Given the description of an element on the screen output the (x, y) to click on. 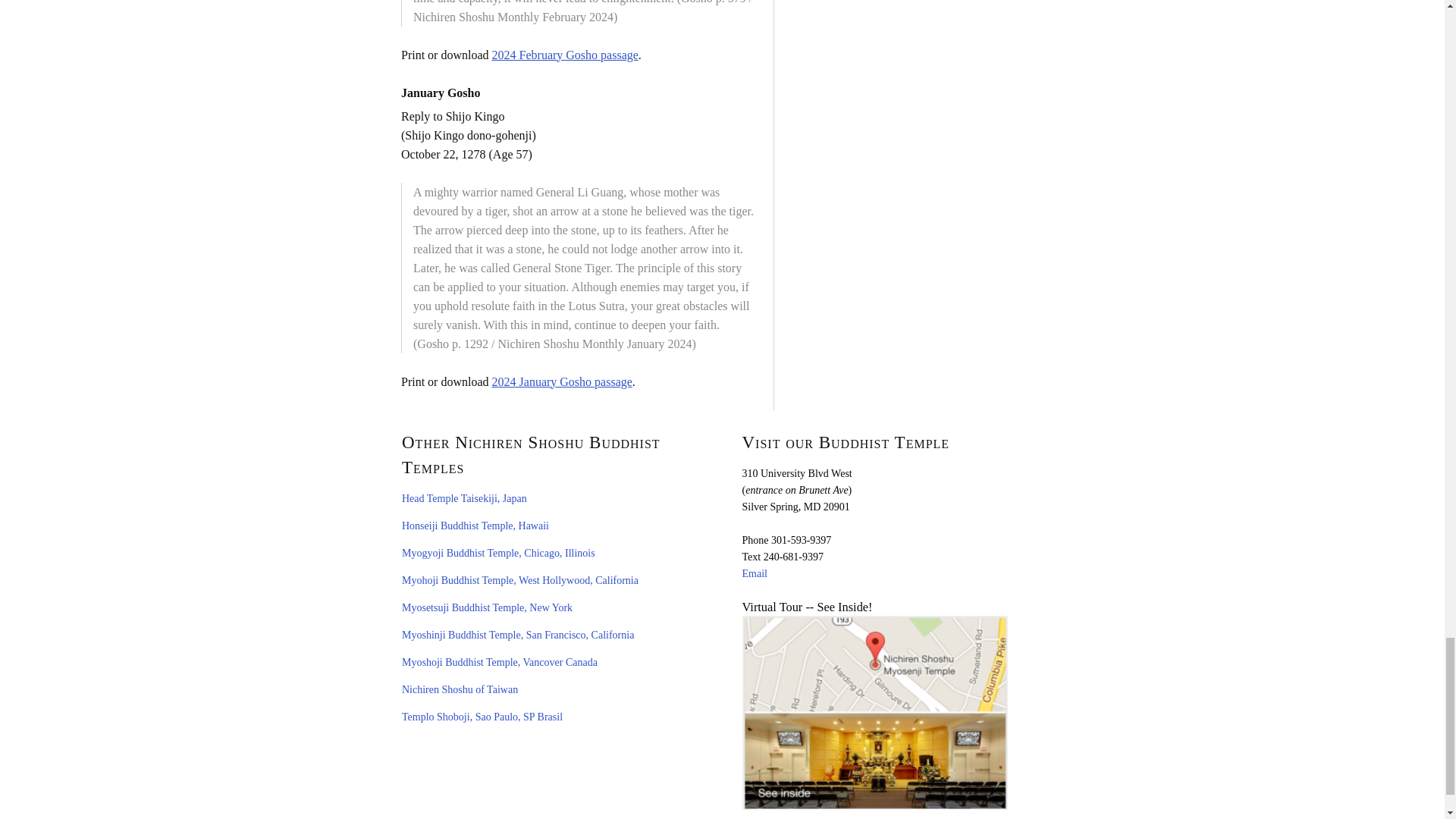
Nichiren Shoshu Temple in Brasil (481, 716)
Nichiren Shoshu Buddhism of Taiwan (459, 689)
Chicago (498, 552)
Nichiren Shoshu Buddhist Temple in Hawaii (474, 525)
Nichiren Shoshu Head Temple (464, 498)
Los Angeles (520, 580)
New York (486, 607)
